Given the description of an element on the screen output the (x, y) to click on. 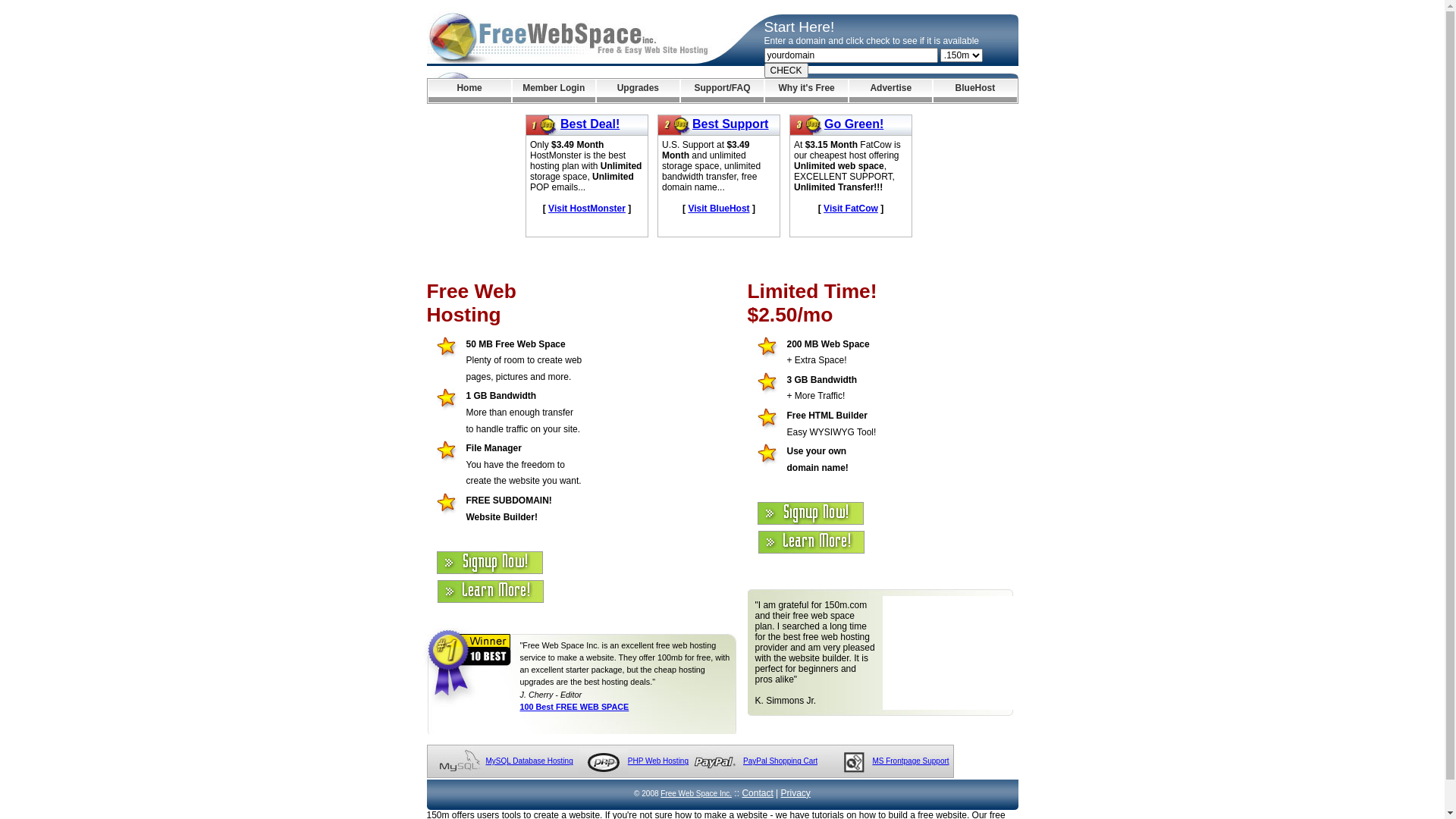
CHECK Element type: text (786, 70)
PayPal Shopping Cart Element type: text (780, 760)
MS Frontpage Support Element type: text (910, 760)
Member Login Element type: text (553, 90)
Advertise Element type: text (890, 90)
100 Best FREE WEB SPACE Element type: text (574, 706)
Support/FAQ Element type: text (721, 90)
MySQL Database Hosting Element type: text (528, 760)
Upgrades Element type: text (637, 90)
Contact Element type: text (756, 792)
BlueHost Element type: text (974, 90)
PHP Web Hosting Element type: text (657, 760)
Why it's Free Element type: text (806, 90)
Free Web Space Inc. Element type: text (695, 793)
Home Element type: text (468, 90)
Privacy Element type: text (795, 792)
